Given the description of an element on the screen output the (x, y) to click on. 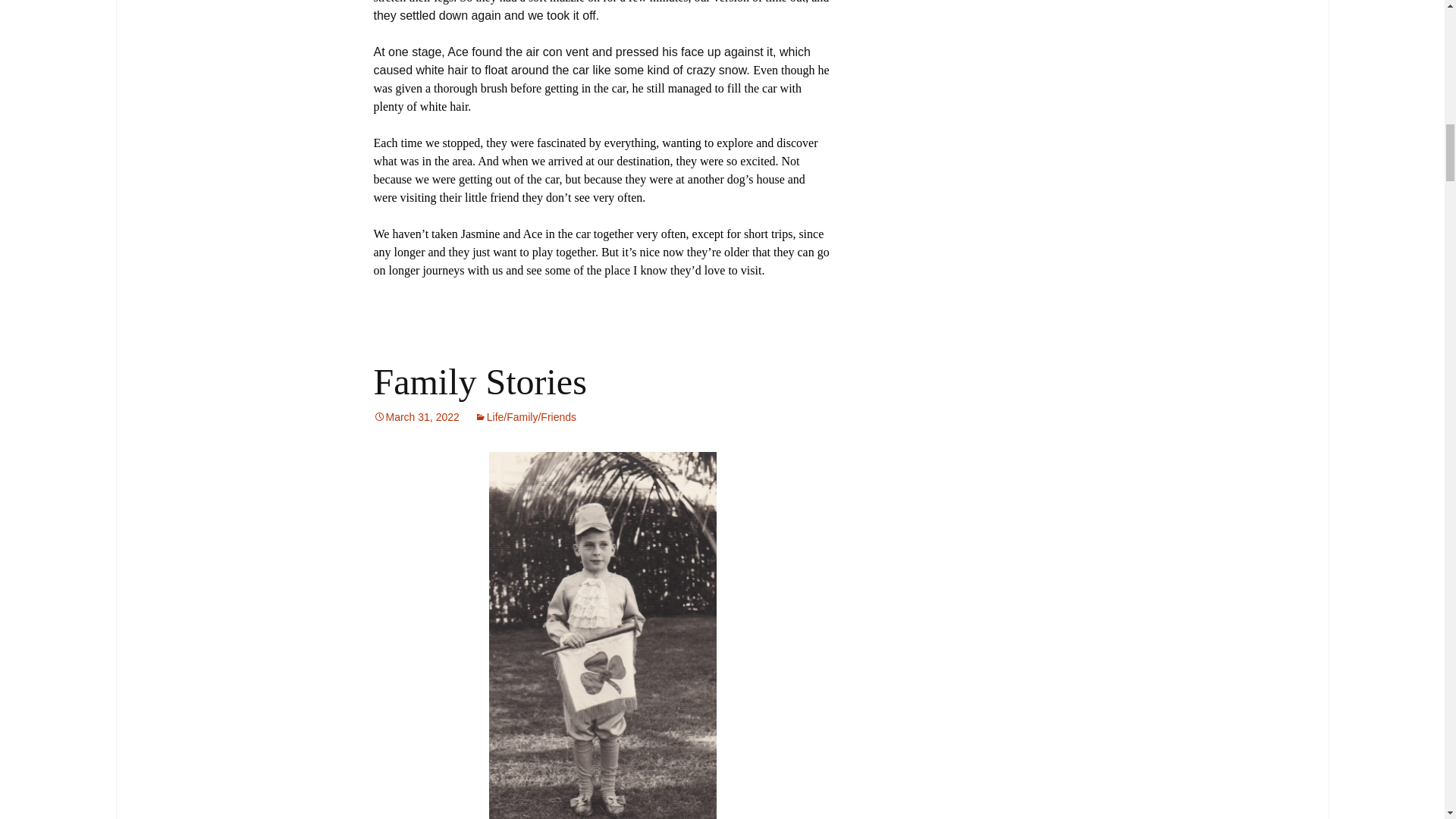
Permalink to Family Stories (415, 417)
